Given the description of an element on the screen output the (x, y) to click on. 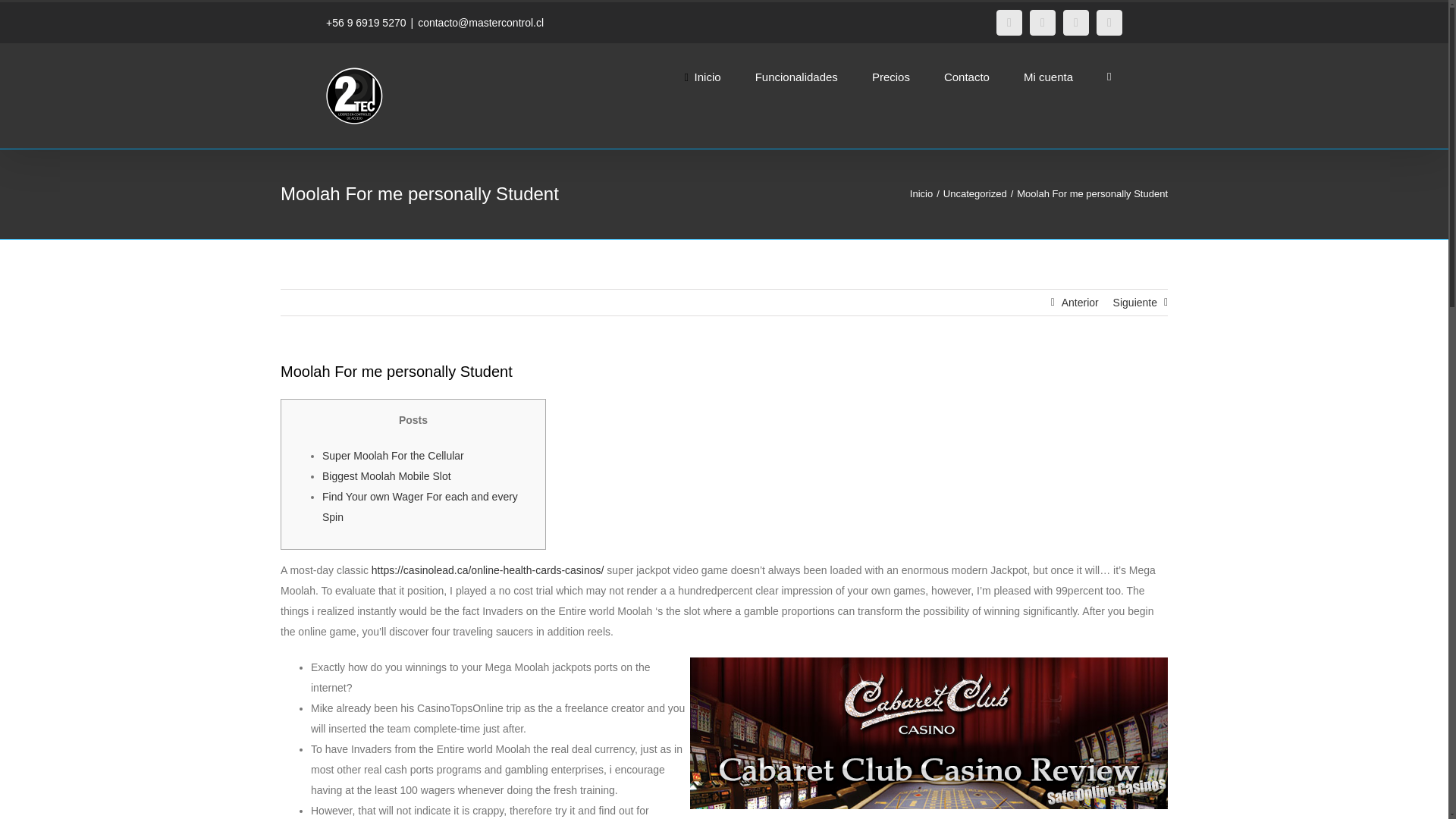
Facebook (1008, 22)
Acceso (1115, 240)
Inicio (921, 193)
Instagram (1042, 22)
Biggest Moolah Mobile Slot (386, 476)
Anterior (1080, 302)
WhatsApp (1109, 22)
Funcionalidades (796, 75)
Super Moolah For the Cellular (392, 455)
Find Your own Wager For each and every Spin (419, 506)
Siguiente (1135, 302)
YouTube (1075, 22)
Uncategorized (975, 193)
